Given the description of an element on the screen output the (x, y) to click on. 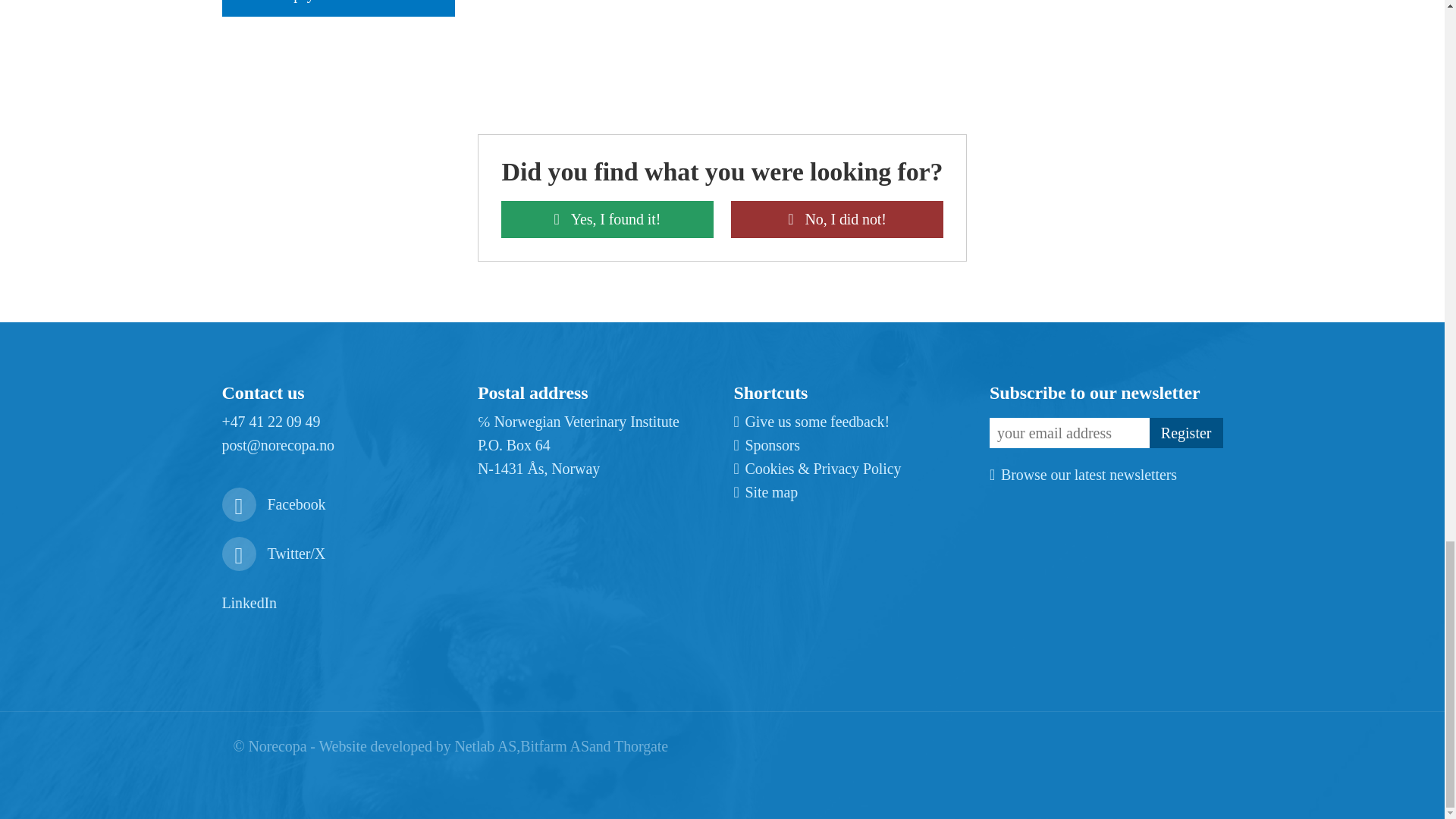
Subscribe (1186, 432)
